Given the description of an element on the screen output the (x, y) to click on. 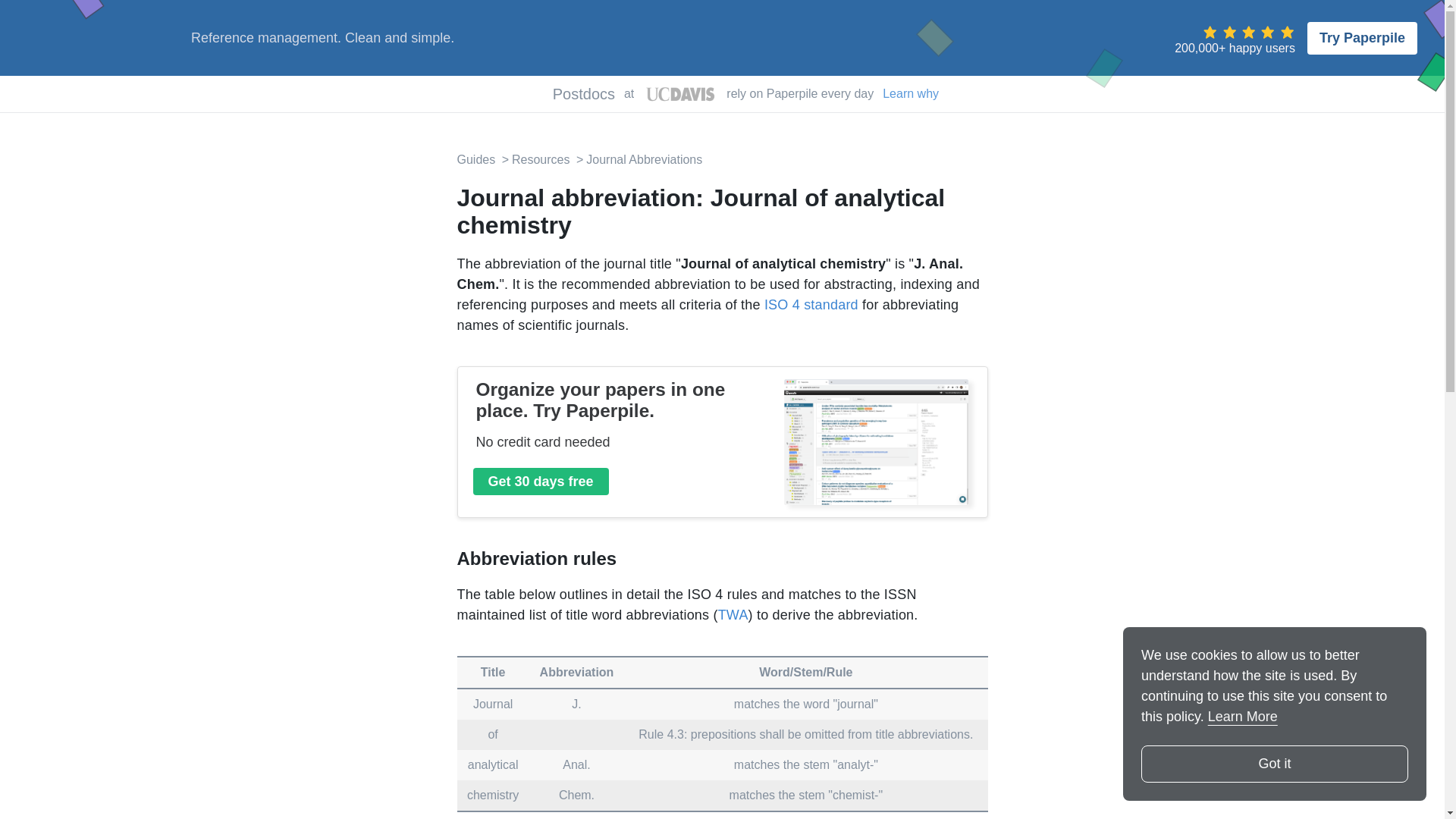
Guides (476, 159)
Journal Abbreviations (637, 159)
Get 30 days free (540, 481)
Resources (534, 159)
ISO 4 standard (811, 304)
Reference management. Clean and simple. (322, 37)
Got it (1274, 763)
Learn why (910, 93)
TWA (732, 614)
Try Paperpile (1361, 37)
